Given the description of an element on the screen output the (x, y) to click on. 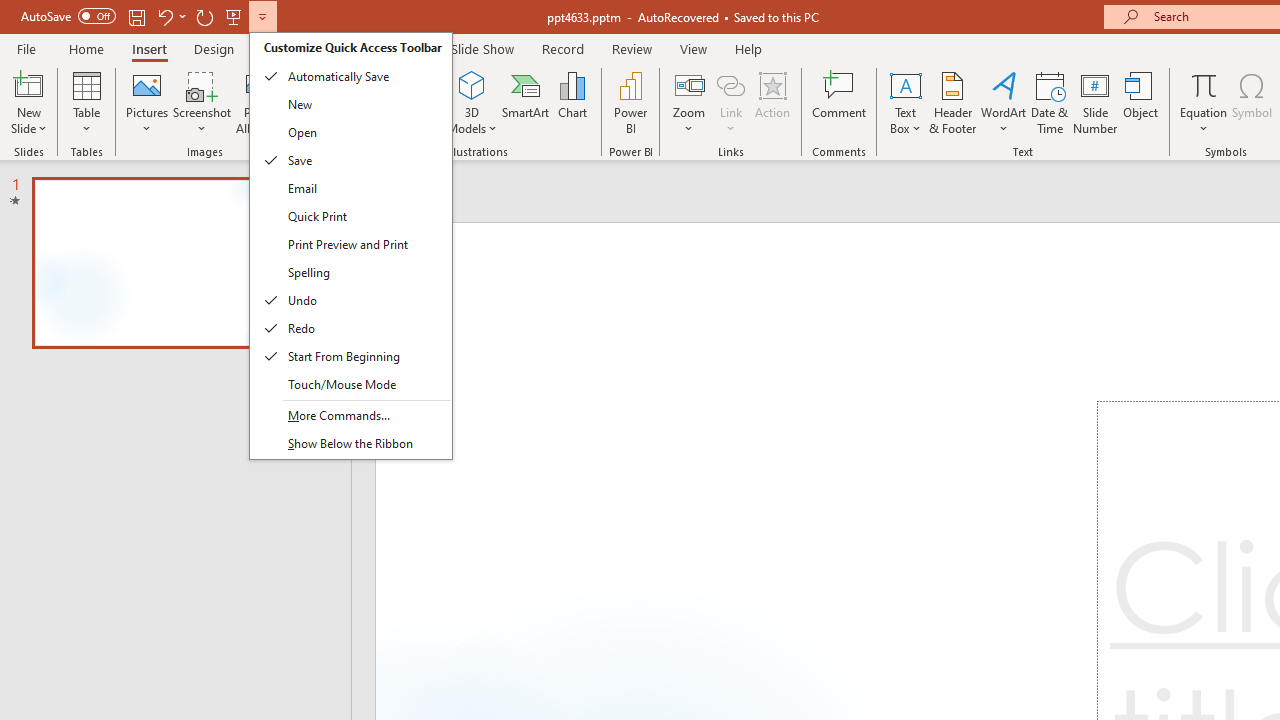
Object... (1141, 102)
Action (772, 102)
Date & Time... (1050, 102)
